Given the description of an element on the screen output the (x, y) to click on. 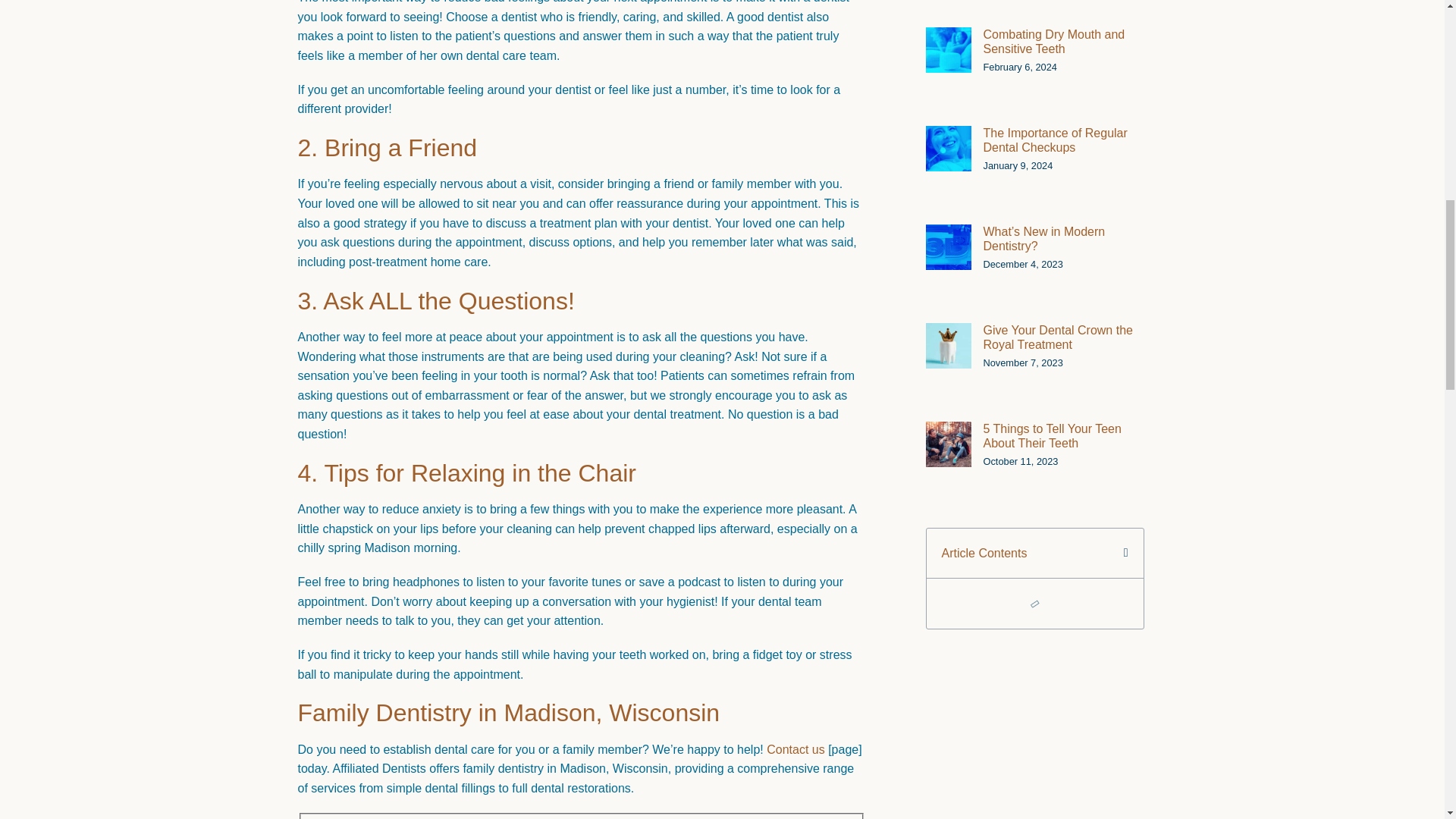
Contact us (795, 748)
